Given the description of an element on the screen output the (x, y) to click on. 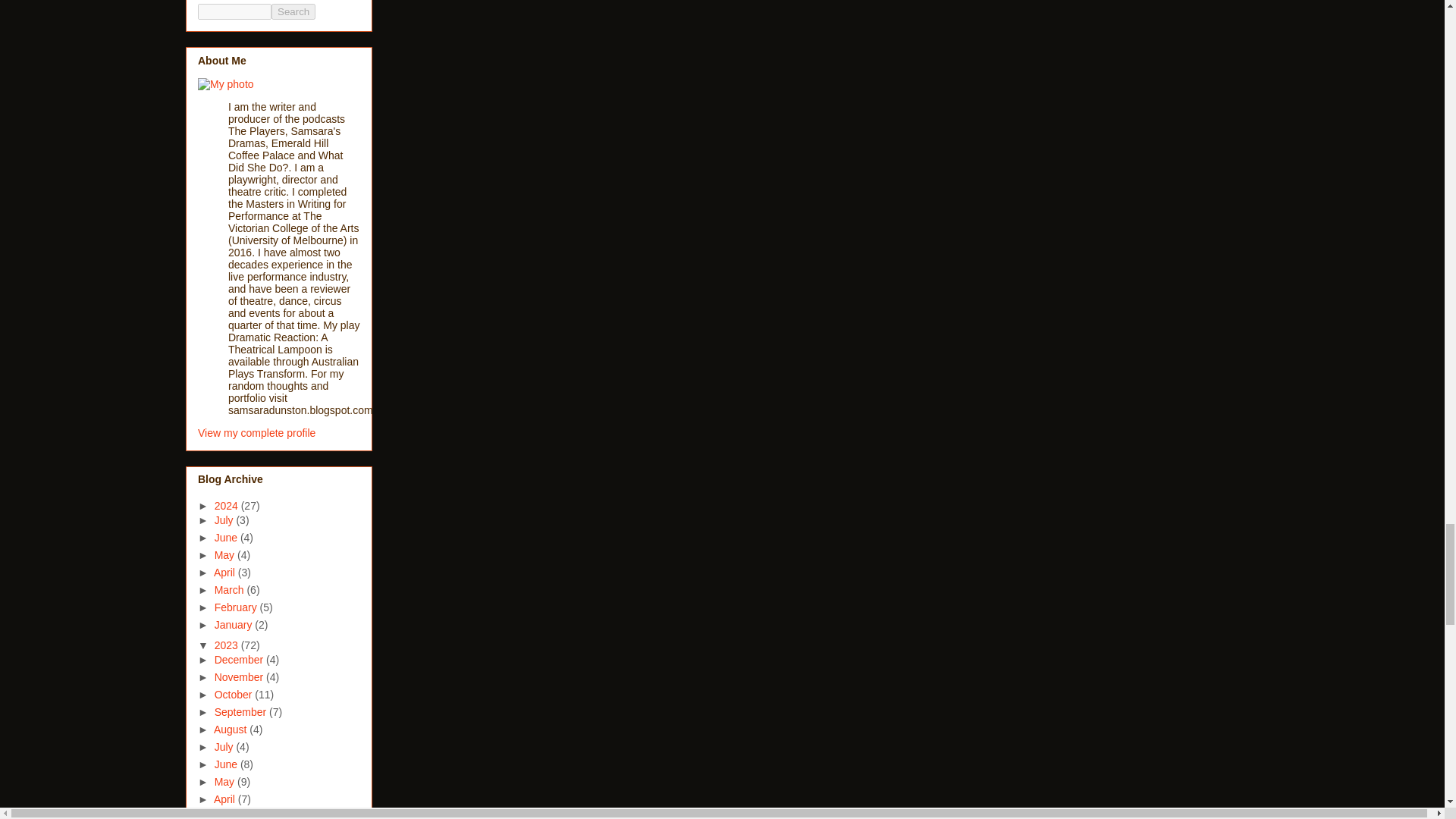
View my complete profile (256, 432)
Search (292, 11)
search (234, 11)
Search (292, 11)
search (292, 11)
Search (292, 11)
